Given the description of an element on the screen output the (x, y) to click on. 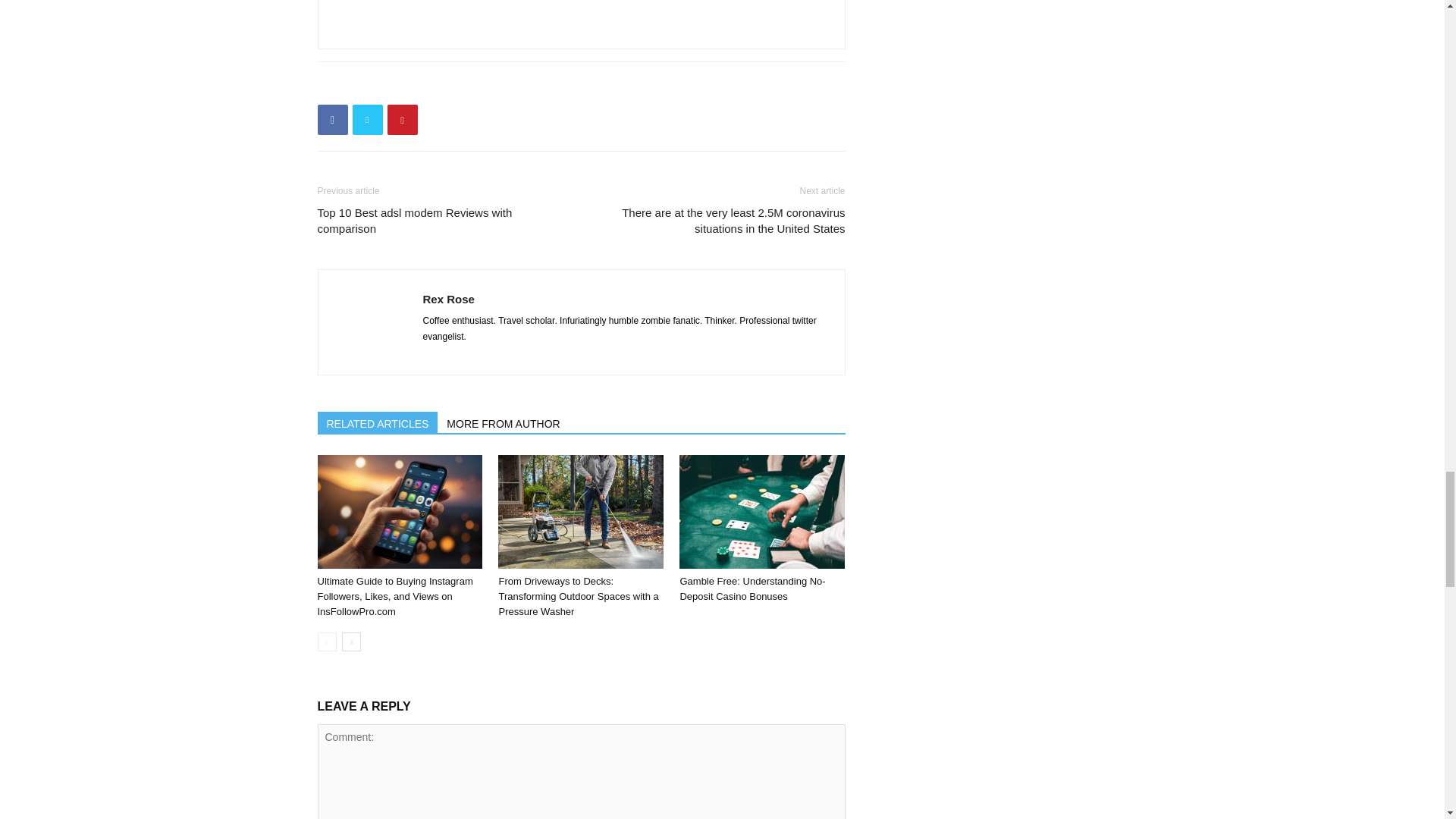
Gamble Free: Understanding No-Deposit Casino Bonuses (752, 588)
Gamble Free: Understanding No-Deposit Casino Bonuses (761, 511)
